Given the description of an element on the screen output the (x, y) to click on. 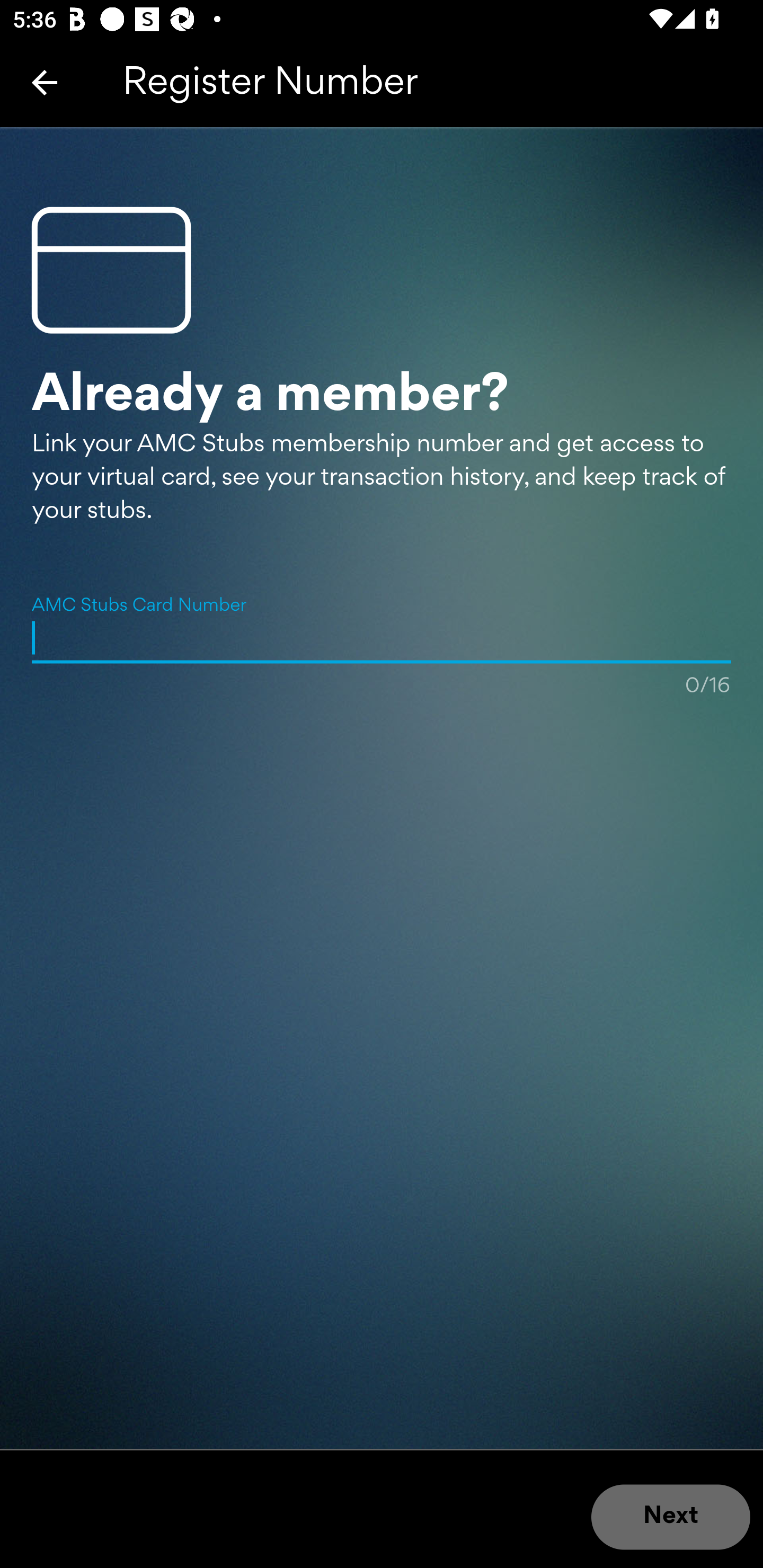
Back (44, 82)
16 characters remaining (381, 636)
